Given the description of an element on the screen output the (x, y) to click on. 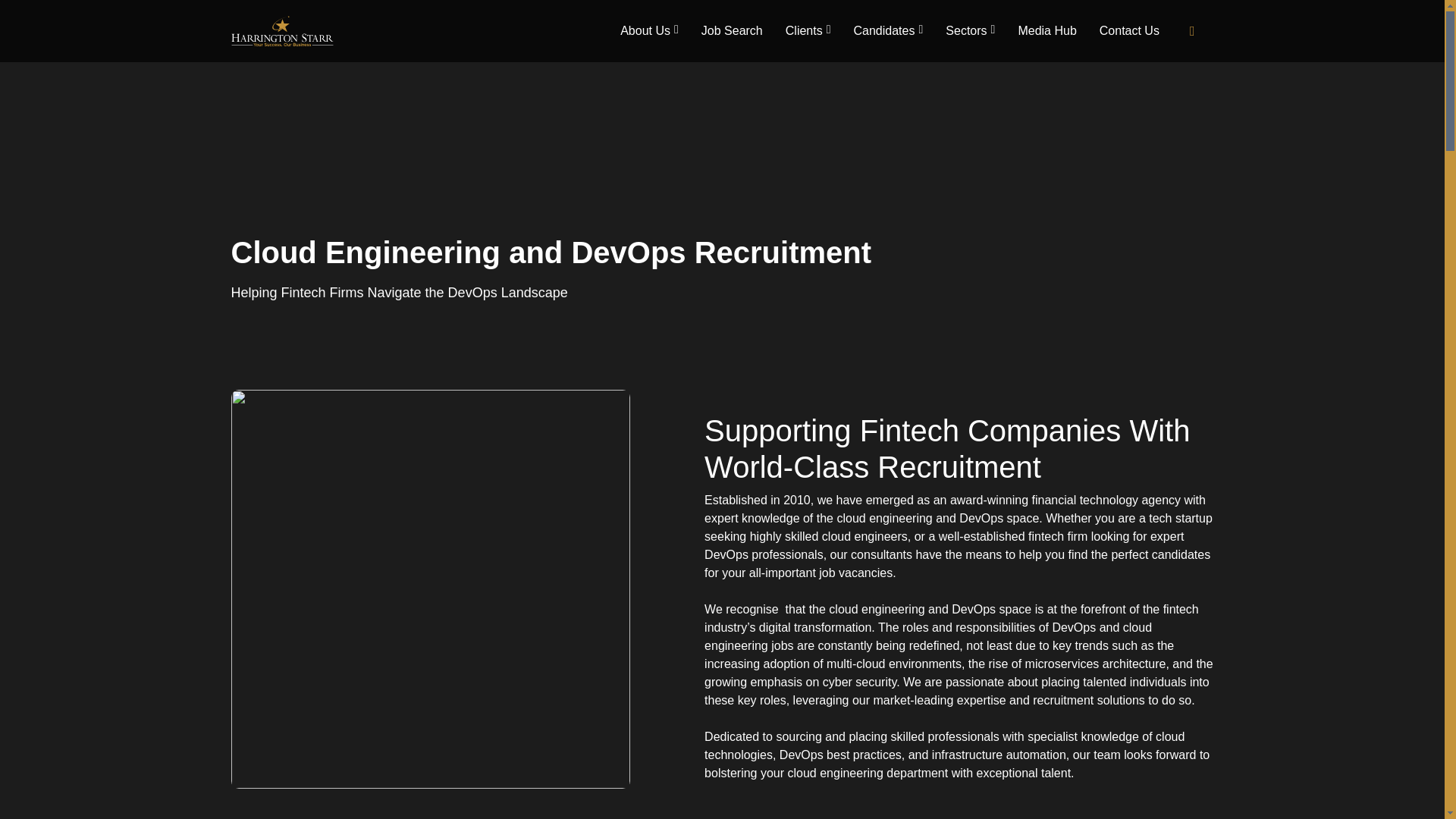
Sectors (970, 30)
Contact Us (1128, 30)
Candidates (888, 30)
Job Search (732, 30)
Media Hub (1046, 30)
Clients (808, 30)
About Us (649, 30)
